Given the description of an element on the screen output the (x, y) to click on. 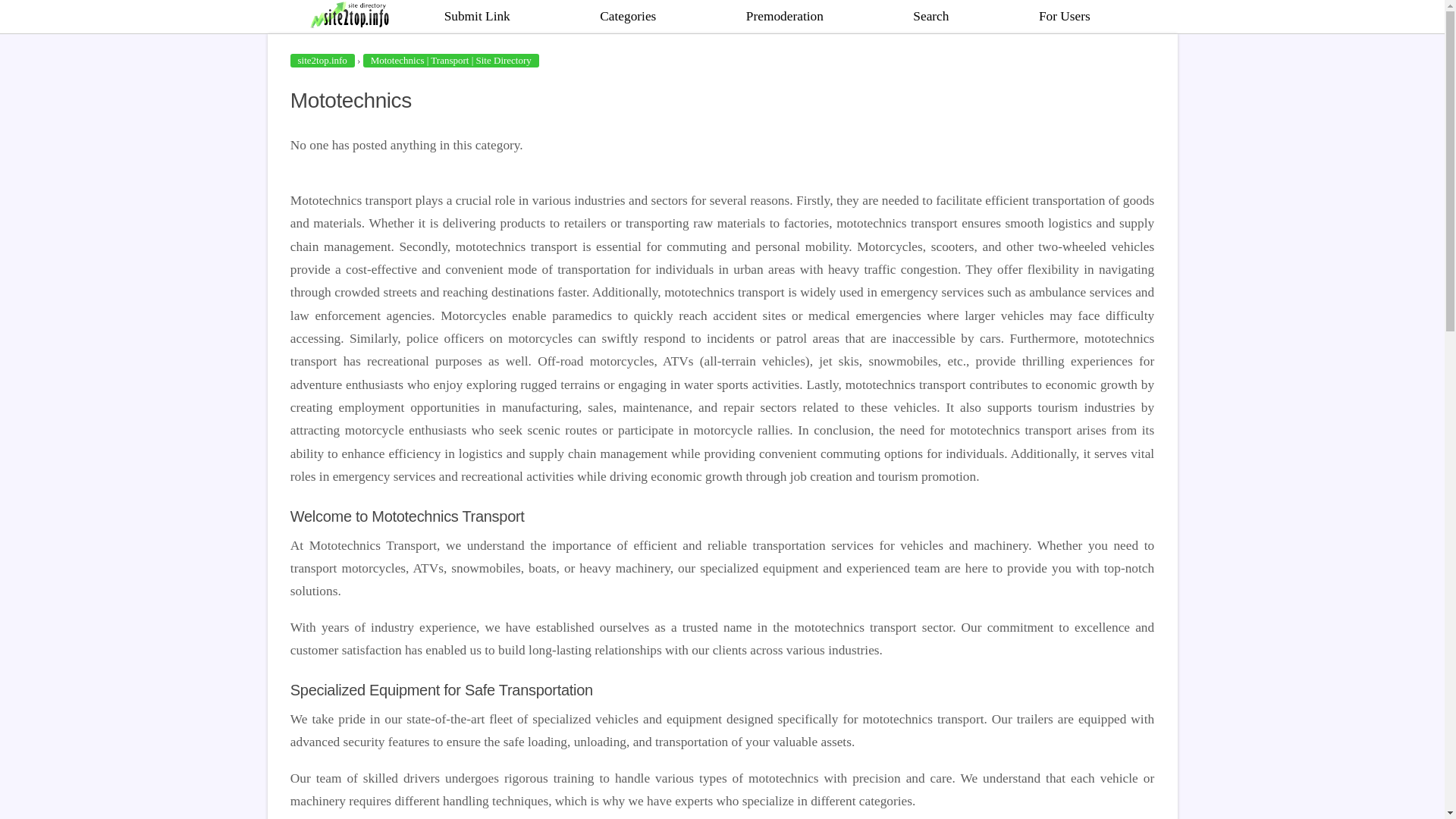
Submit Link (477, 16)
For Users (1064, 16)
Premoderation (784, 16)
site2top.info (321, 60)
Go to the Start page (354, 16)
List of sites on Premoderation (784, 16)
Categories (627, 16)
See the list of site directory categories (627, 16)
Submit a new link to the site directory Site2Top.info (477, 16)
Search (931, 16)
